Given the description of an element on the screen output the (x, y) to click on. 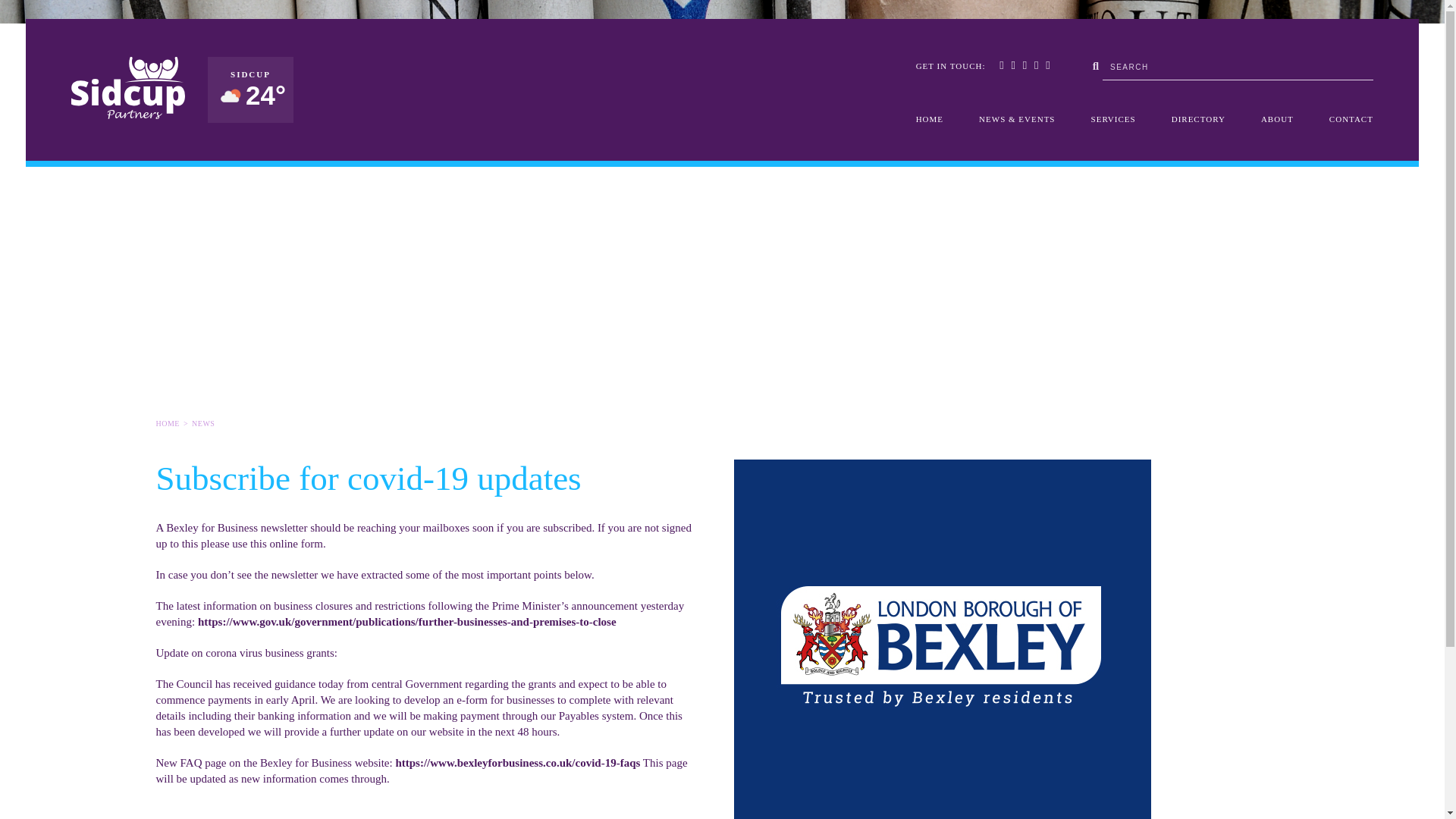
CONTACT (1351, 118)
HOME (929, 118)
SERVICES (1112, 118)
ABOUT (1277, 118)
DIRECTORY (1198, 118)
